Given the description of an element on the screen output the (x, y) to click on. 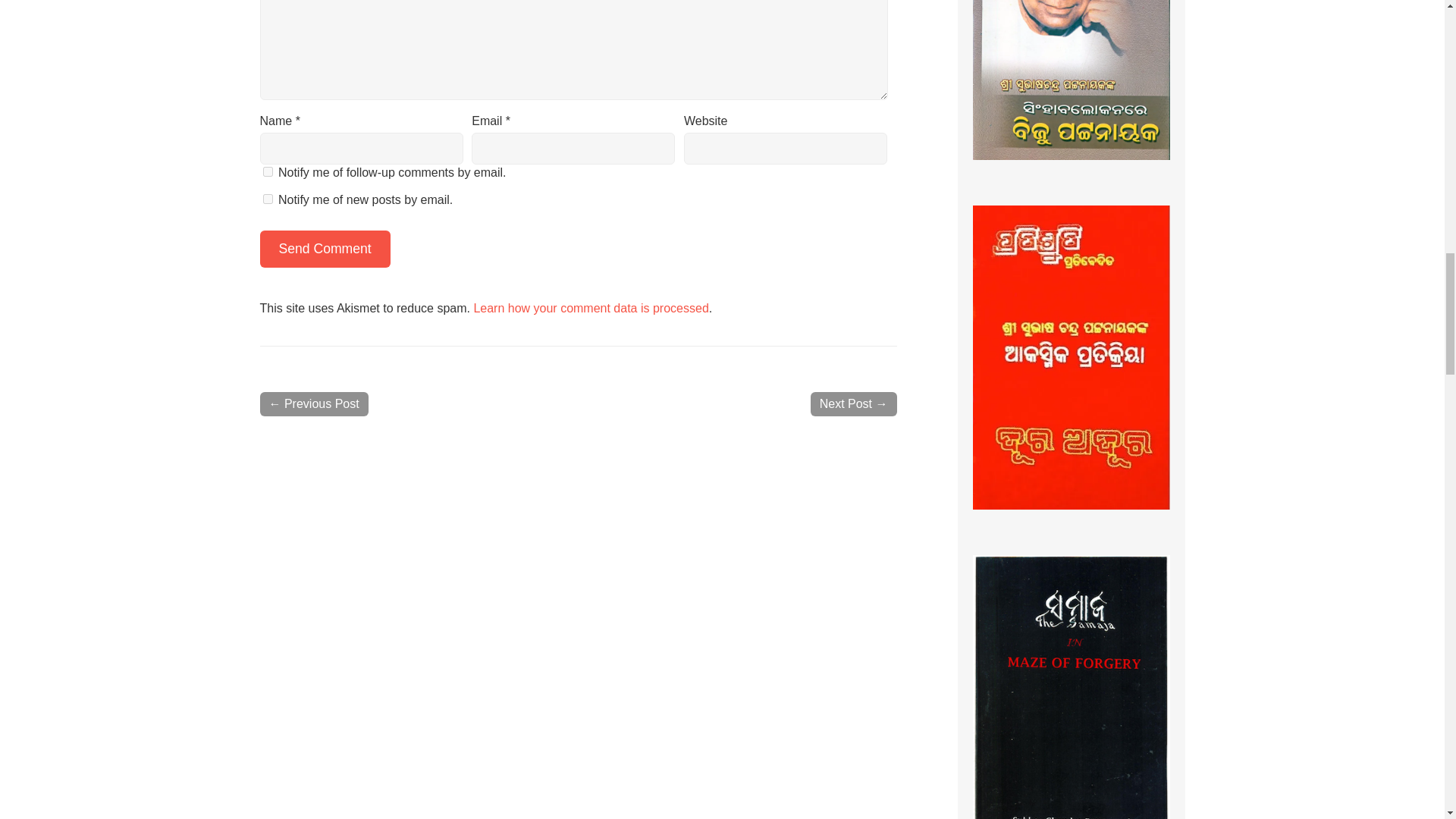
Learn how your comment data is processed (590, 308)
subscribe (267, 171)
subscribe (267, 198)
Send Comment (324, 248)
Send Comment (324, 248)
